Given the description of an element on the screen output the (x, y) to click on. 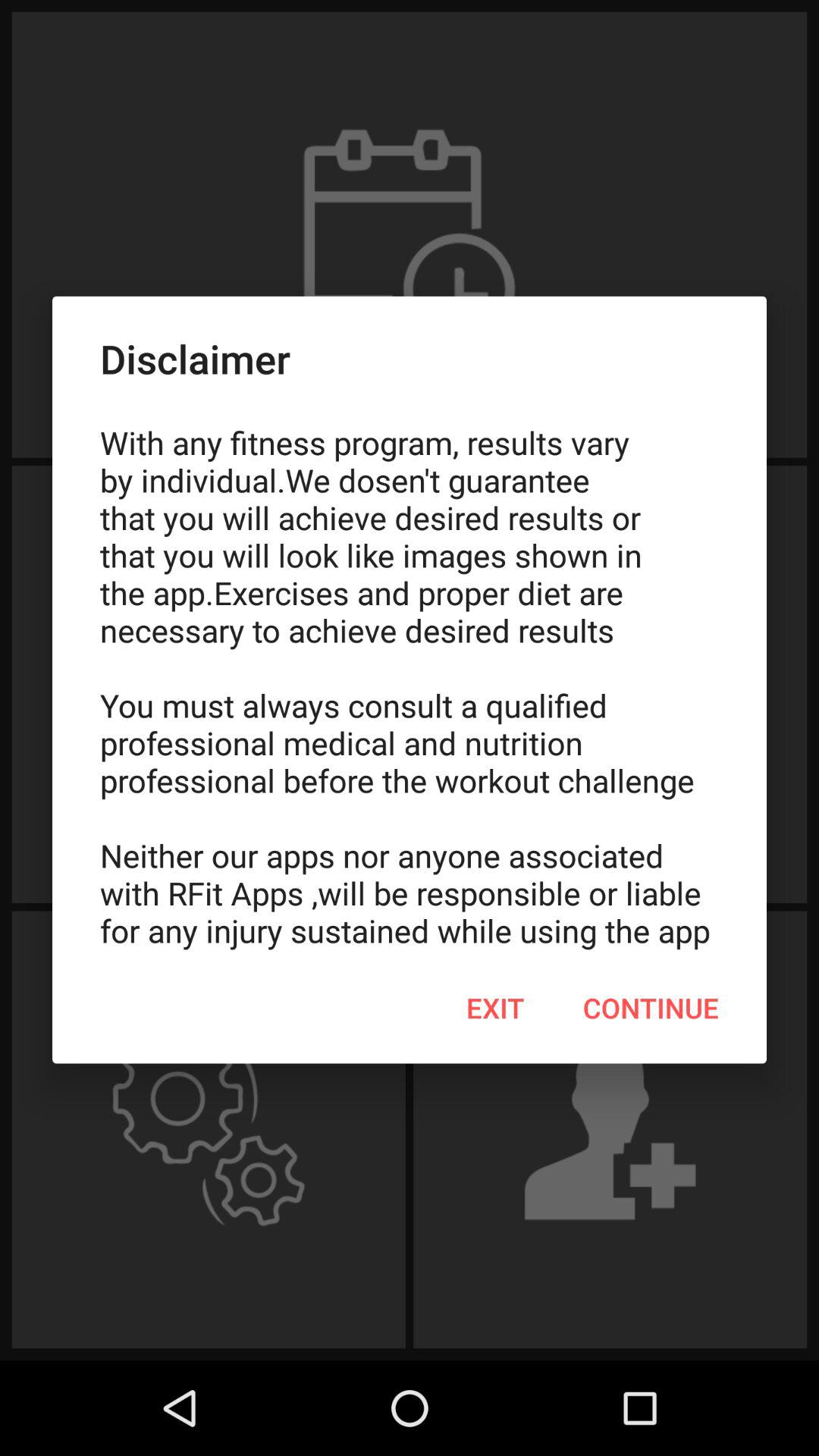
click item to the right of the exit item (650, 1007)
